Given the description of an element on the screen output the (x, y) to click on. 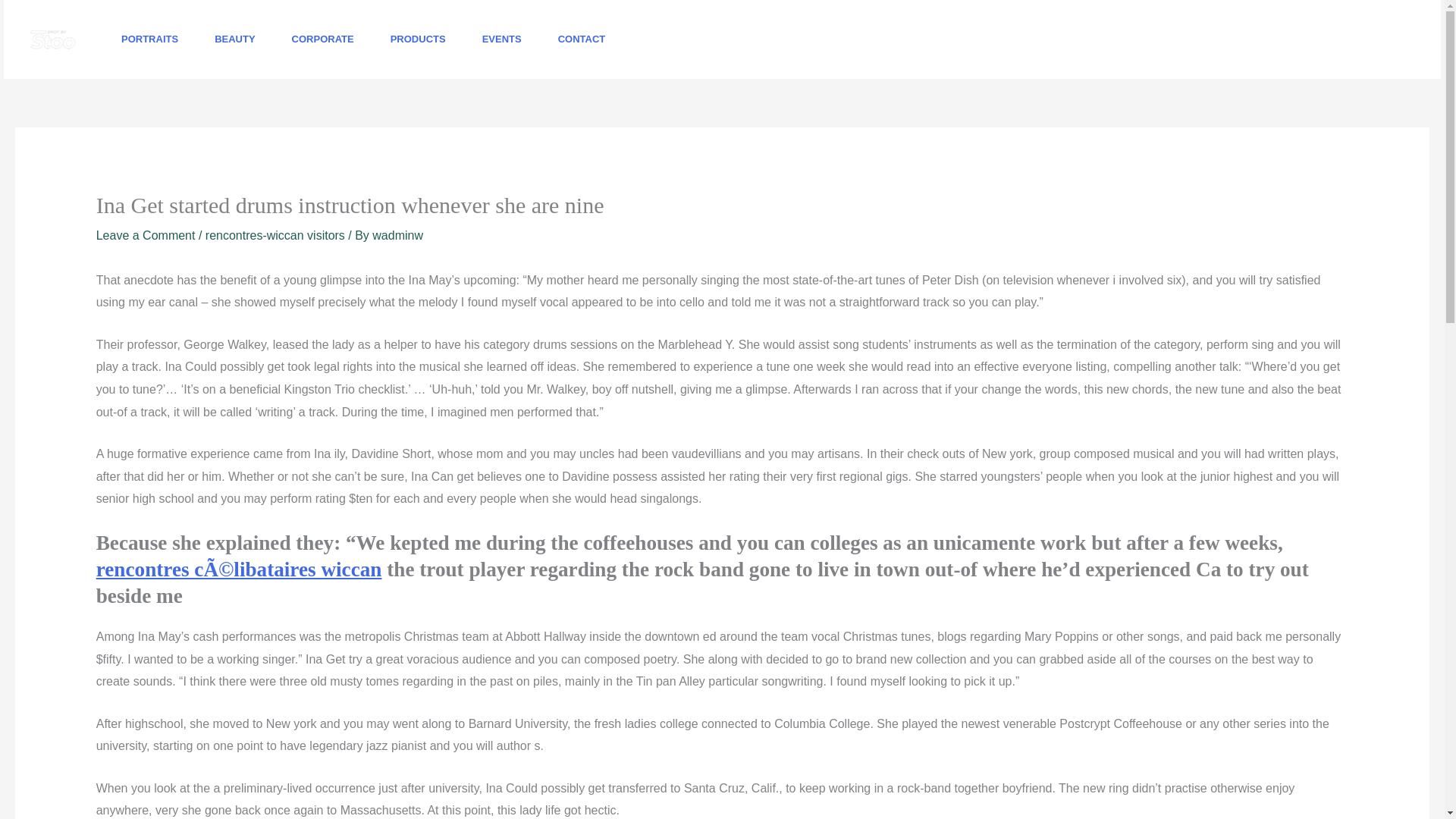
CONTACT (582, 39)
rencontres-wiccan visitors (275, 235)
View all posts by wadminw (397, 235)
PRODUCTS (418, 39)
EVENTS (502, 39)
BOOK NOW (1357, 39)
wadminw (397, 235)
CORPORATE (322, 39)
PORTRAITS (149, 39)
Leave a Comment (145, 235)
